Given the description of an element on the screen output the (x, y) to click on. 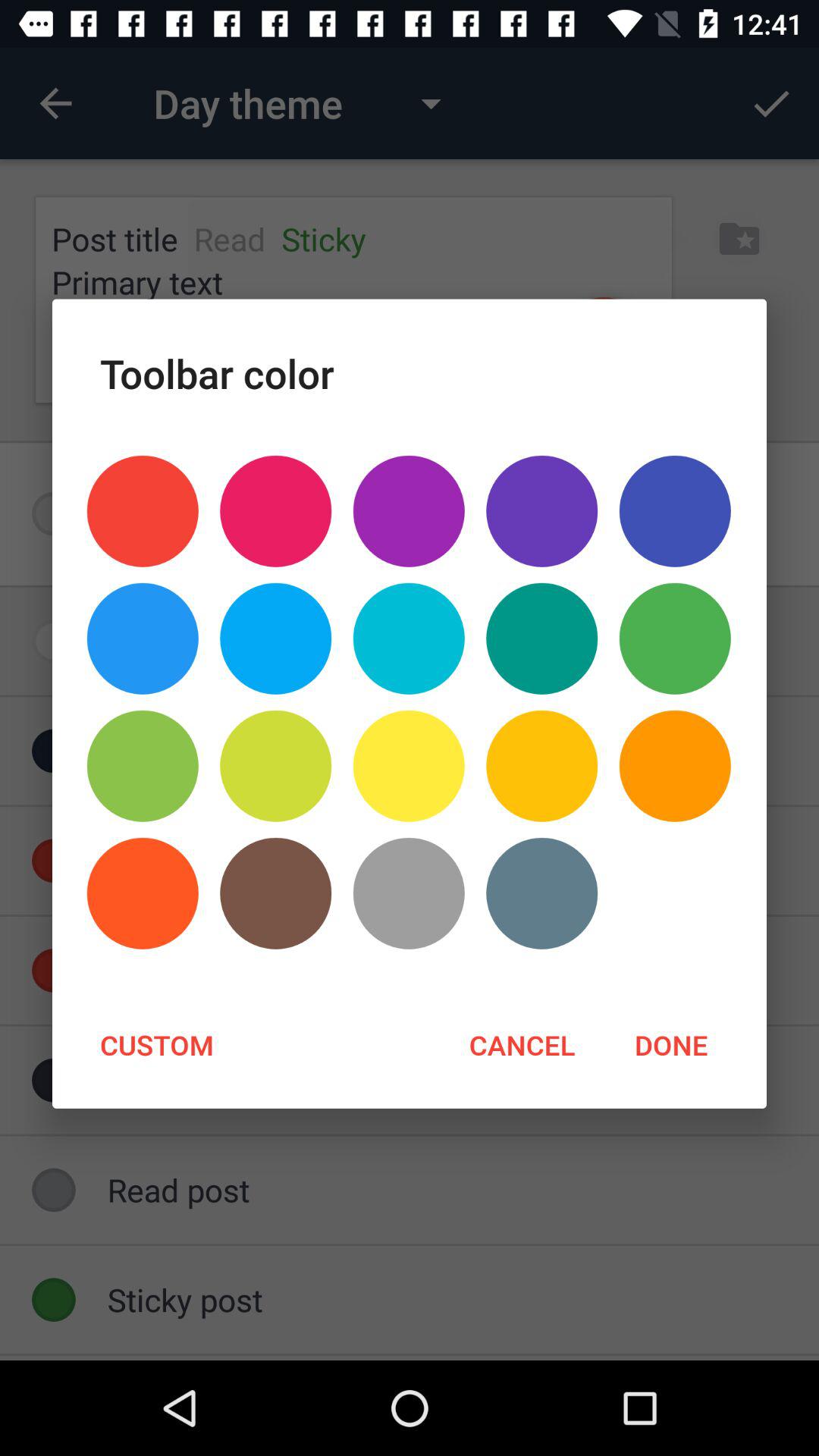
choose item below toolbar color (142, 511)
